Given the description of an element on the screen output the (x, y) to click on. 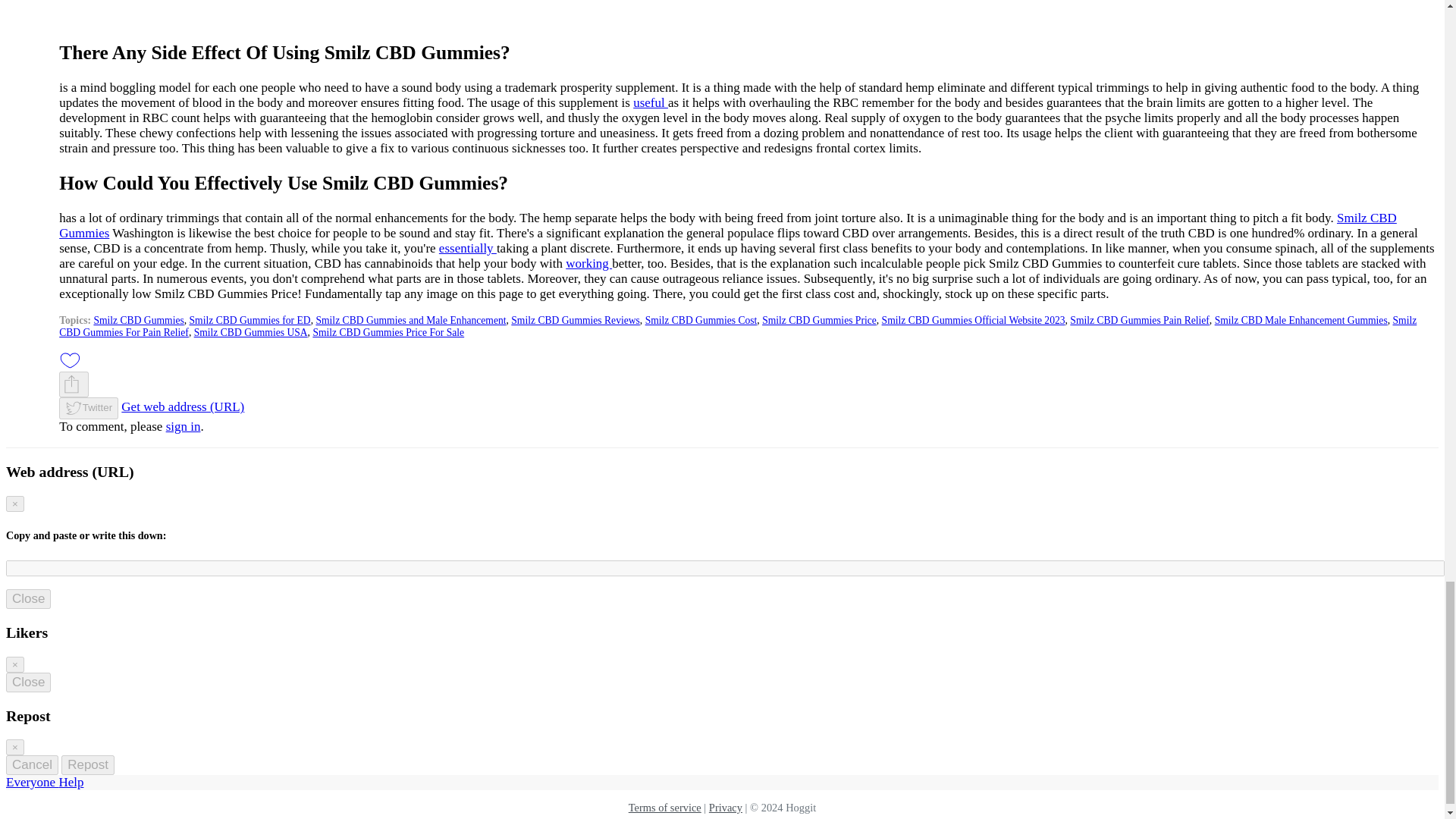
Smilz CBD Gummies and Male Enhancement (410, 319)
Smilz CBD Gummies Price (818, 319)
Smilz CBD Gummies Pain Relief (1139, 319)
Share (71, 384)
Smilz CBD Gummies for ED (250, 319)
Like (70, 360)
Smilz CBD Gummies Reviews (575, 319)
Smilz CBD Gummies (138, 319)
useful  (650, 102)
Twitter (88, 408)
